Given the description of an element on the screen output the (x, y) to click on. 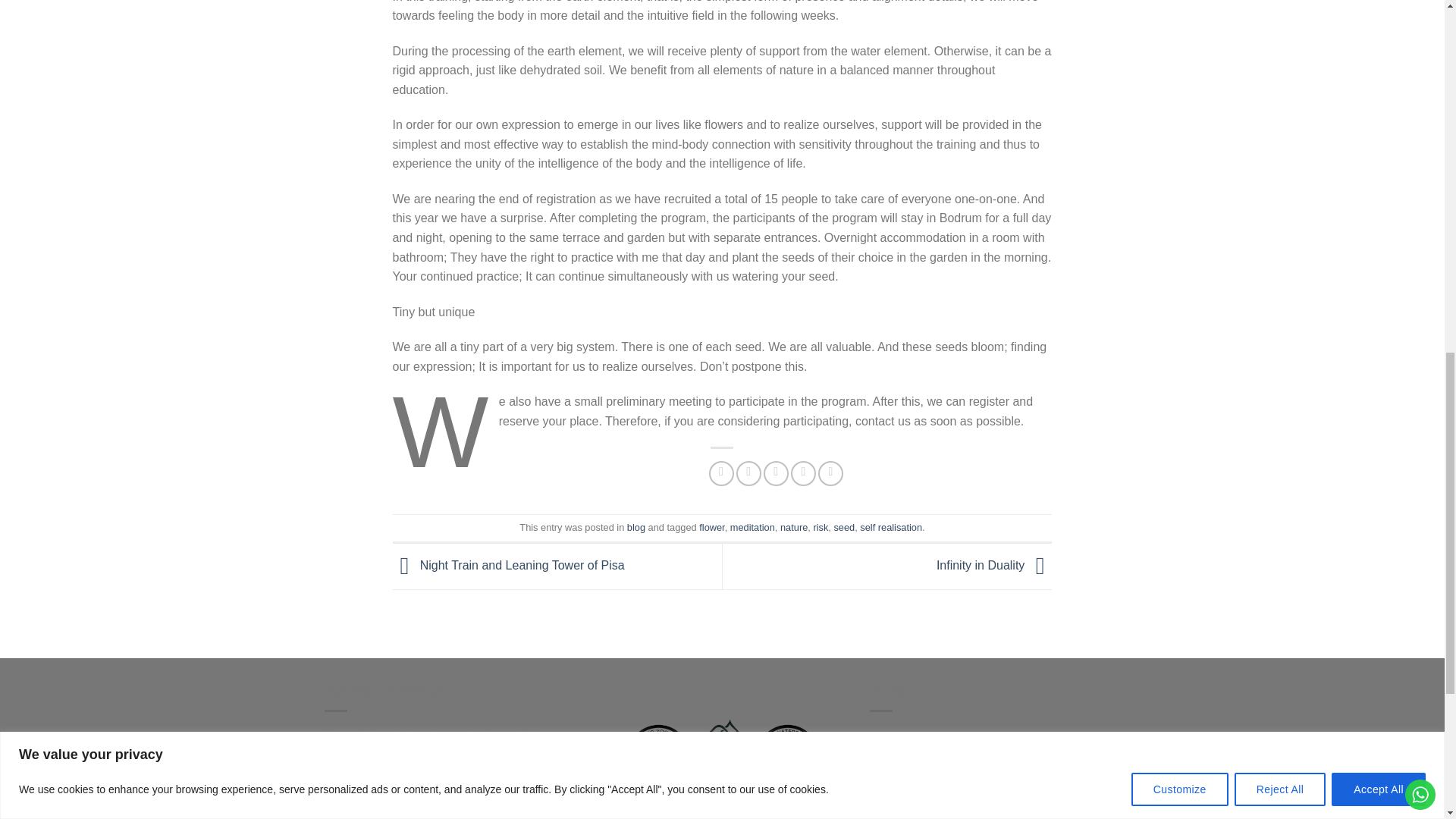
Email to a Friend (775, 473)
Share on Tumblr (830, 473)
Share on Facebook (721, 473)
Pin on Pinterest (802, 473)
Share on Twitter (748, 473)
